Given the description of an element on the screen output the (x, y) to click on. 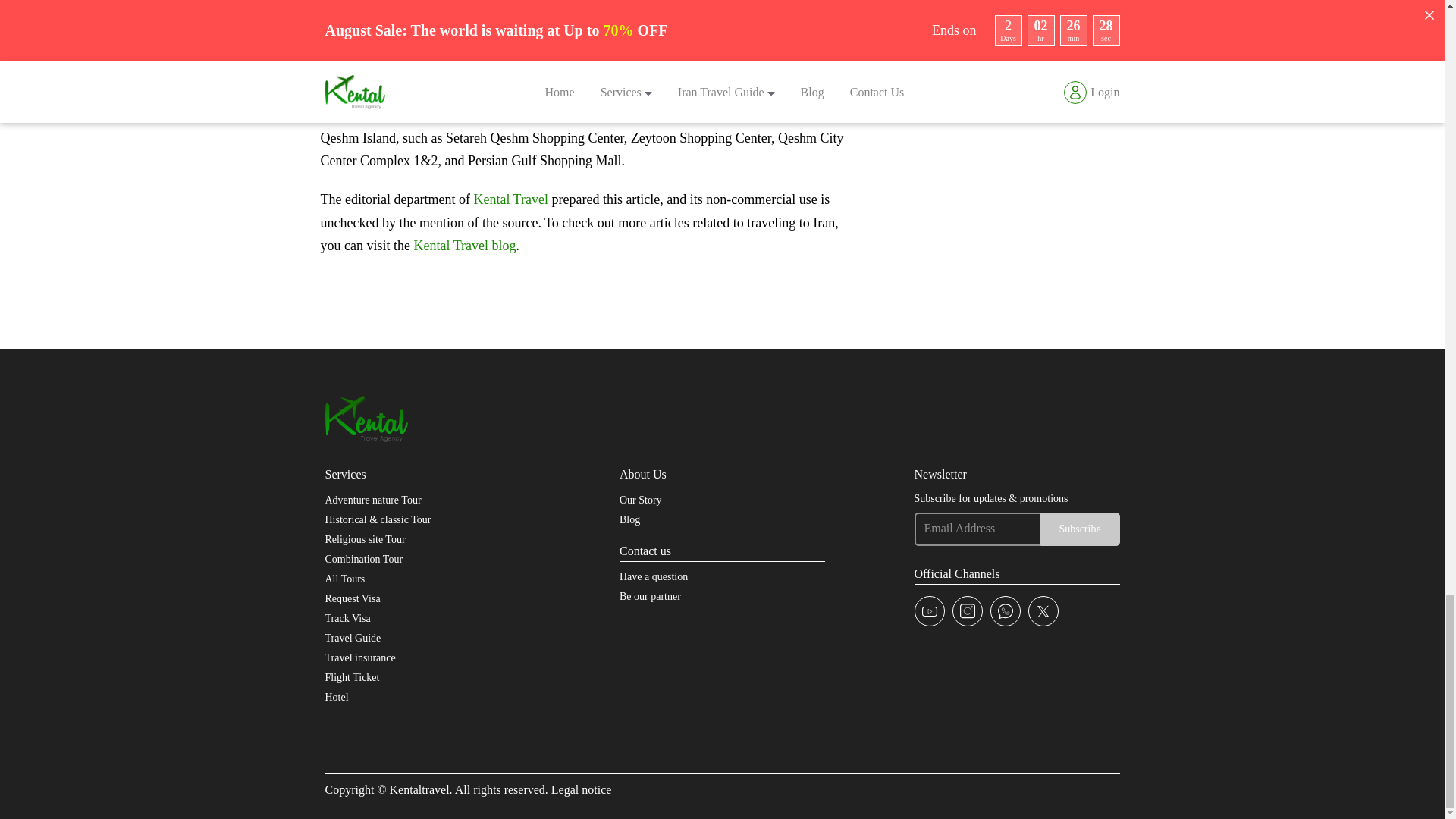
Kental Travel (510, 199)
Adventure nature Tour (372, 500)
Travel insurance (359, 657)
Be our partner (650, 595)
All Tours (344, 578)
Combination Tour (363, 559)
Track Visa (346, 618)
Have a question (653, 576)
Subscribe (1080, 529)
Religious site Tour (364, 539)
Hotel (335, 696)
Kental Travel blog (464, 245)
Travel Guide (352, 637)
Blog (630, 519)
Flight Ticket (351, 677)
